Given the description of an element on the screen output the (x, y) to click on. 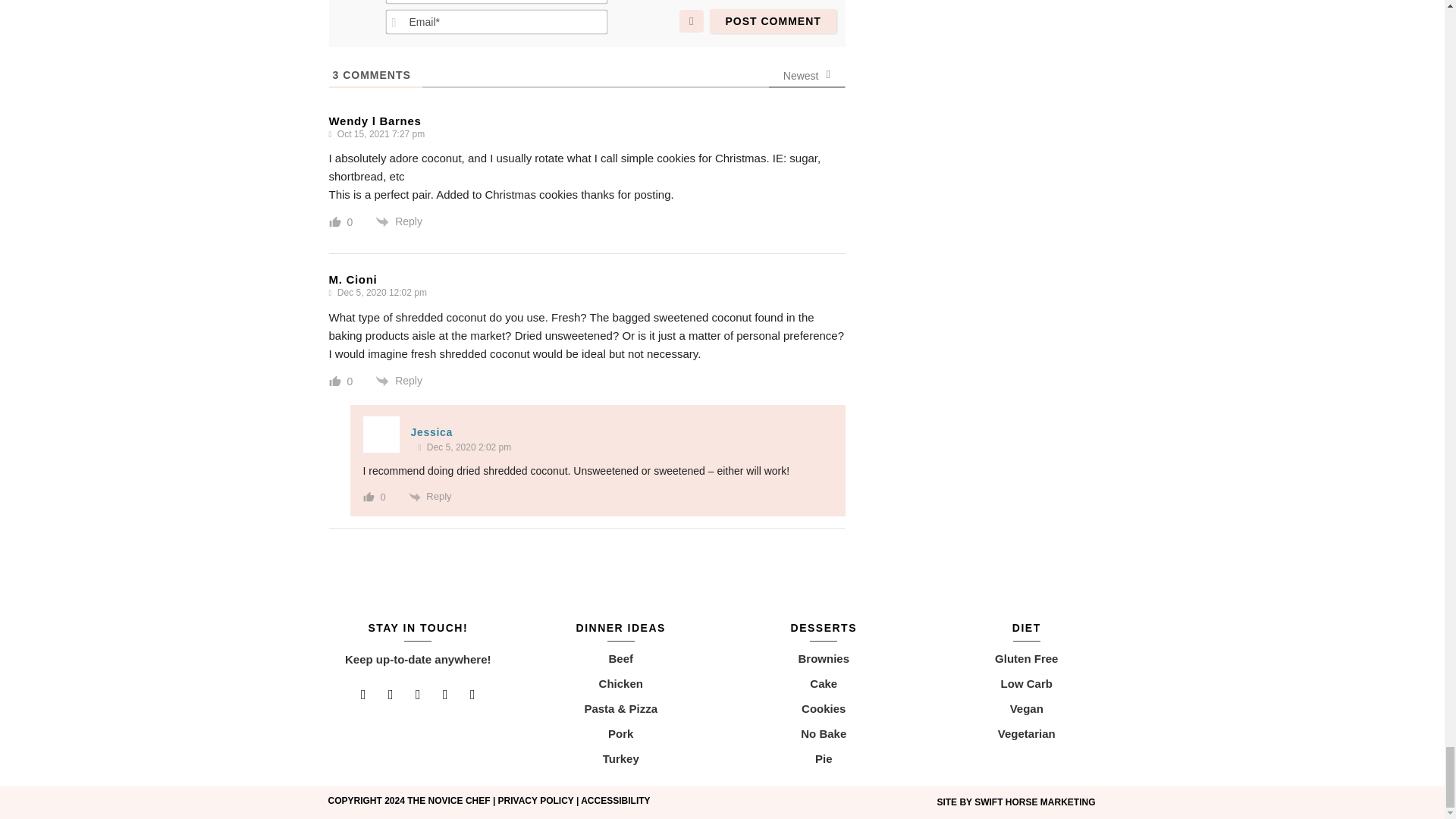
Post Comment (772, 21)
